Given the description of an element on the screen output the (x, y) to click on. 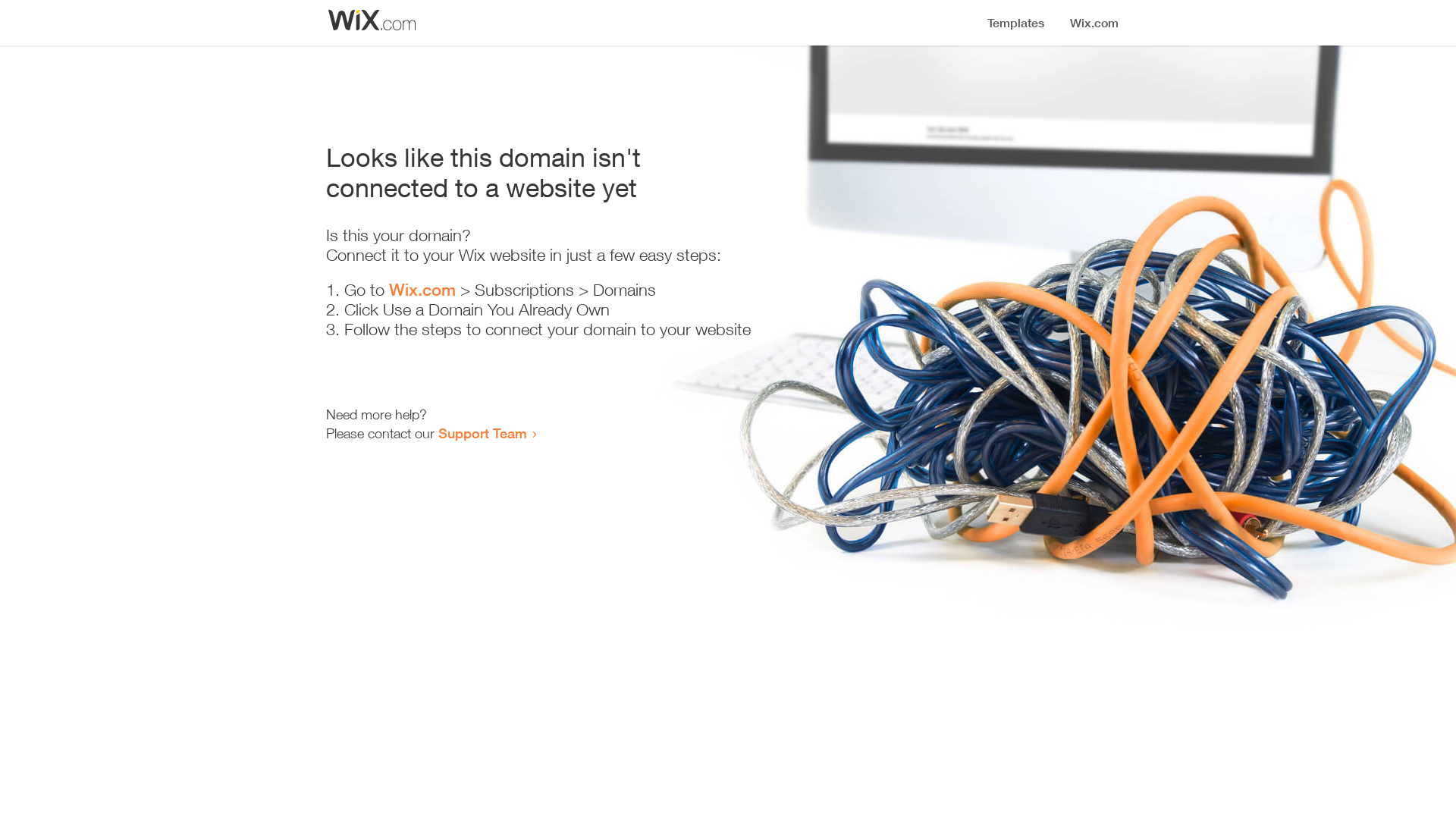
Support Team Element type: text (482, 432)
Wix.com Element type: text (422, 289)
